Given the description of an element on the screen output the (x, y) to click on. 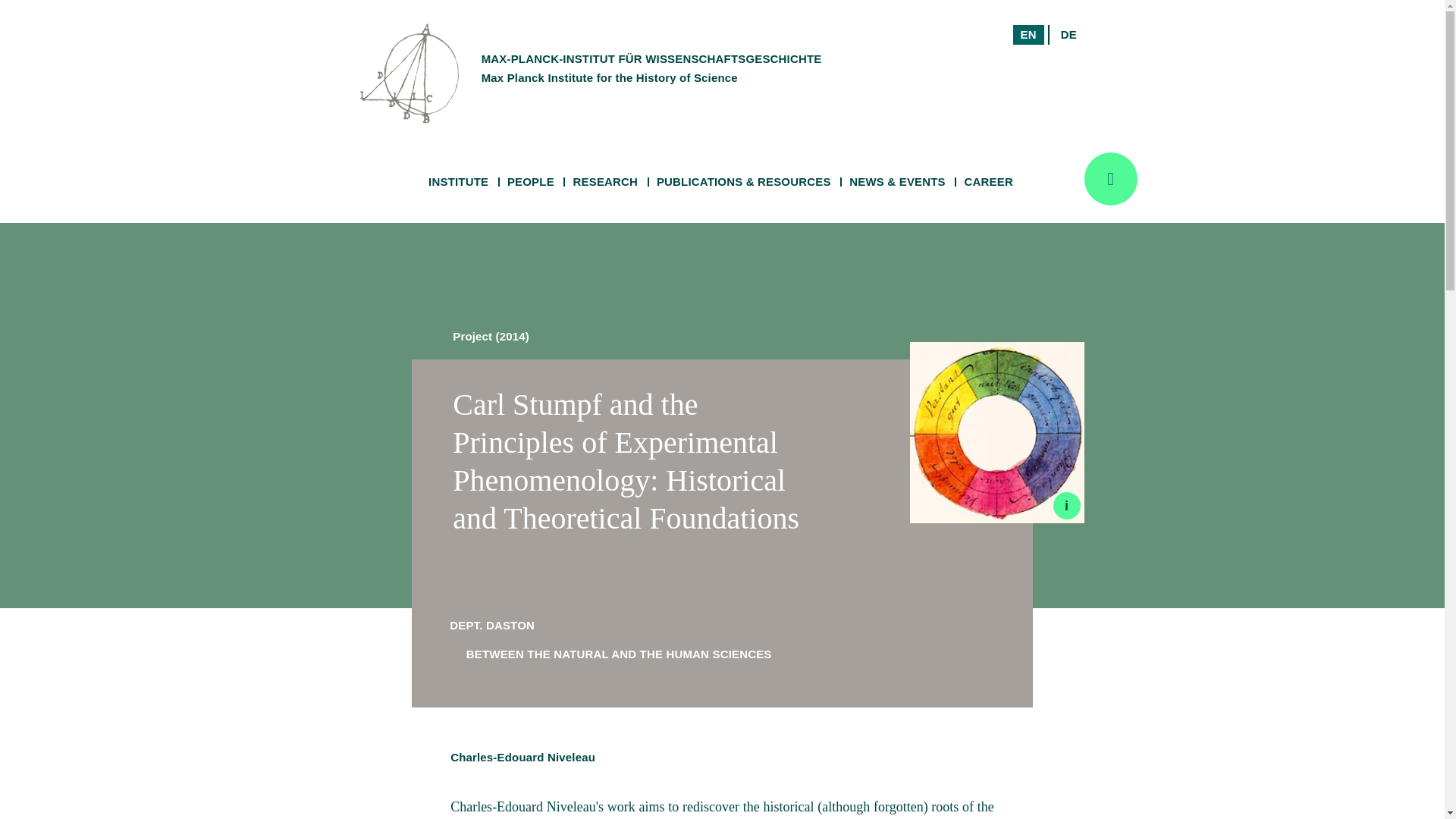
PEOPLE (531, 181)
RESEARCH (604, 181)
DE (1013, 52)
SKIP TO MAIN CONTENT (1068, 35)
EN (458, 181)
